Given the description of an element on the screen output the (x, y) to click on. 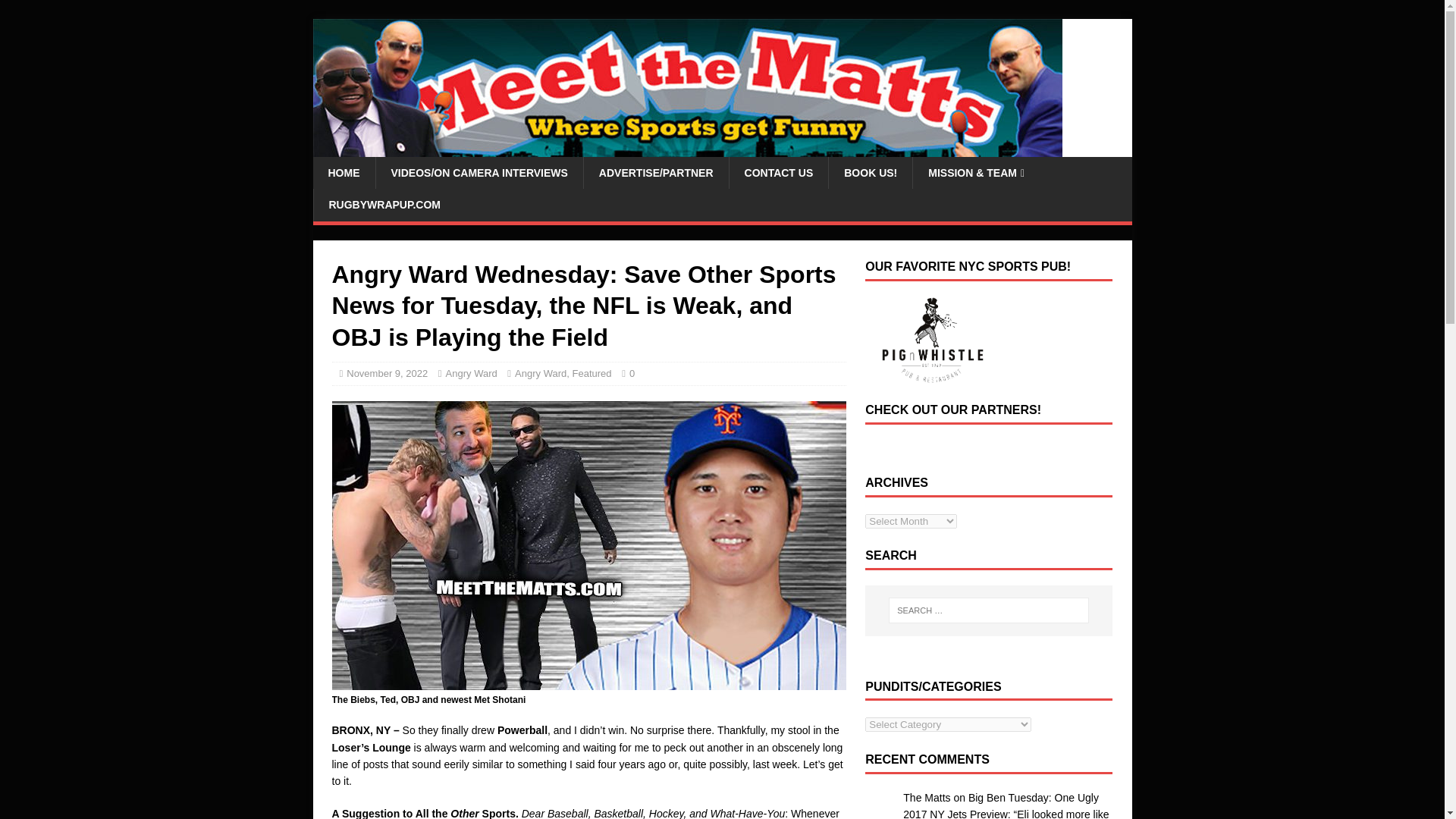
CONTACT US (778, 173)
Meet The Matts (687, 148)
BOOK US! (870, 173)
Angry Ward (471, 373)
HOME (343, 173)
Featured (591, 373)
RUGBYWRAPUP.COM (384, 204)
Angry Ward (540, 373)
November 9, 2022 (387, 373)
